Given the description of an element on the screen output the (x, y) to click on. 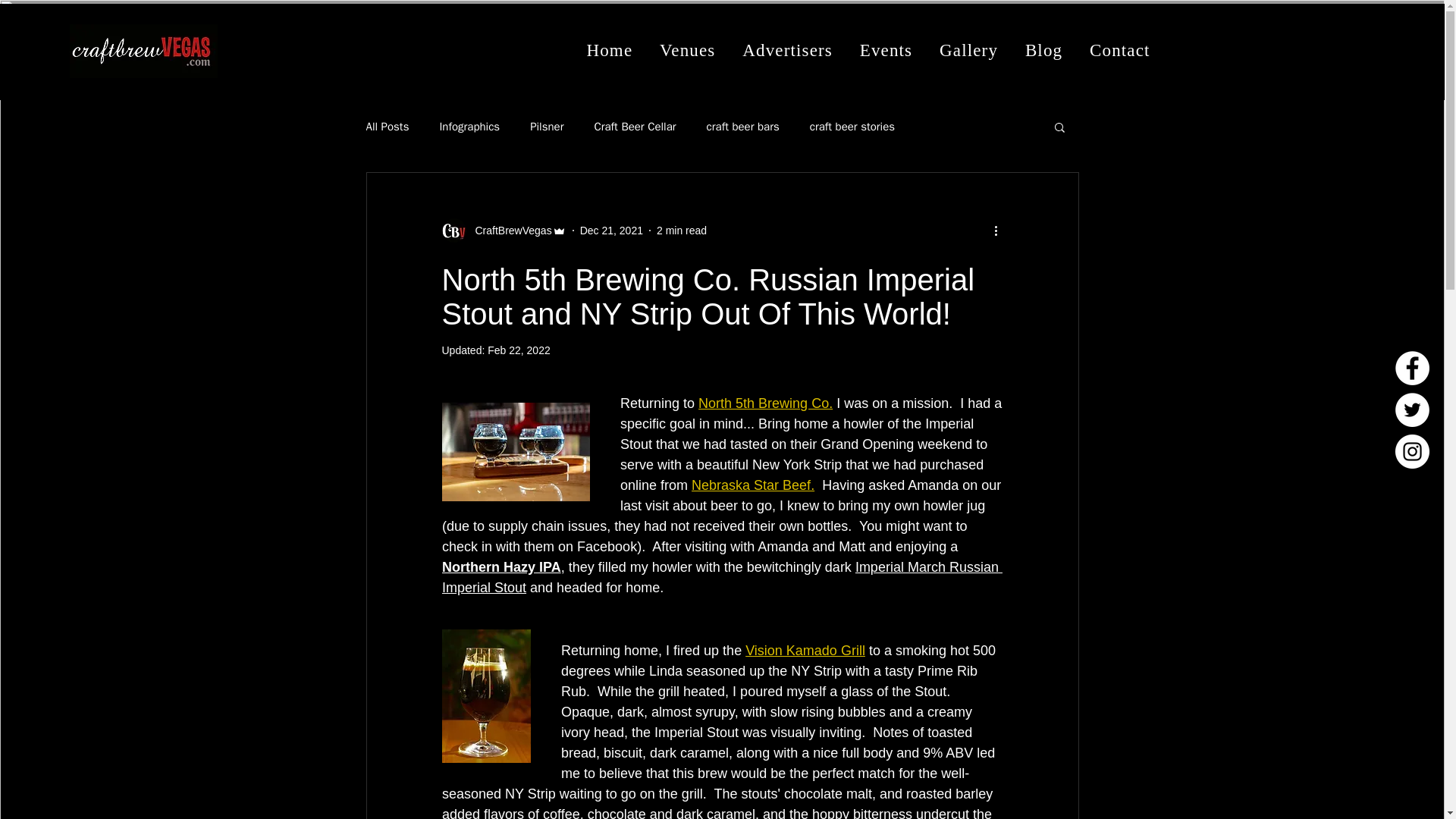
Feb 22, 2022 (518, 349)
All Posts (387, 126)
Advertisers (787, 50)
Events (885, 50)
Gallery (968, 50)
Dec 21, 2021 (611, 230)
Craft Beer Cellar (634, 126)
Pilsner (546, 126)
Blog (1043, 50)
CraftBrewVegas (508, 230)
Home (609, 50)
Infographics (469, 126)
CraftBrewVegas (503, 230)
Vision Kamado Grill (804, 650)
craft beer stories (852, 126)
